Given the description of an element on the screen output the (x, y) to click on. 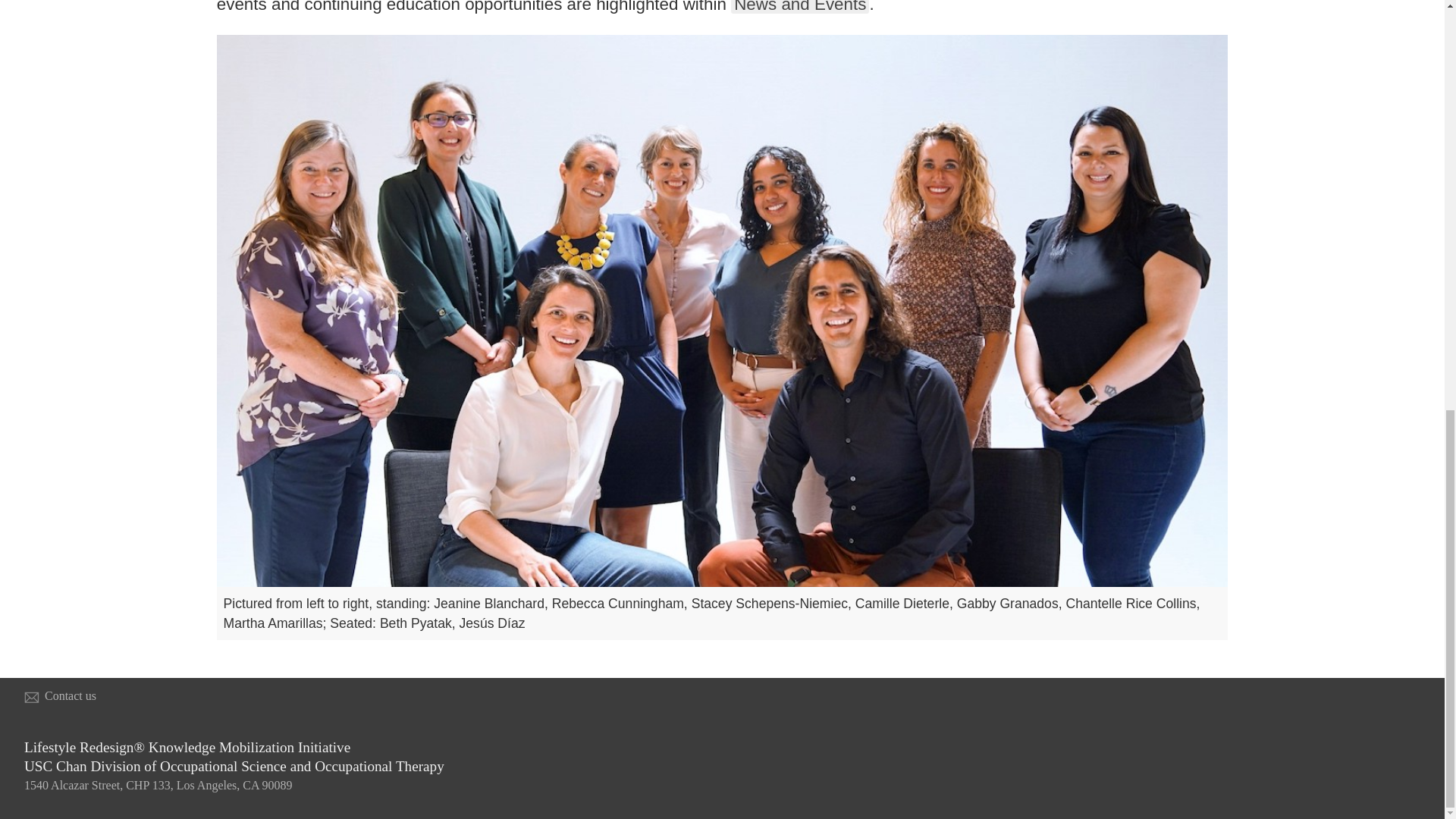
News and Events (799, 6)
Contact us (70, 695)
